Given the description of an element on the screen output the (x, y) to click on. 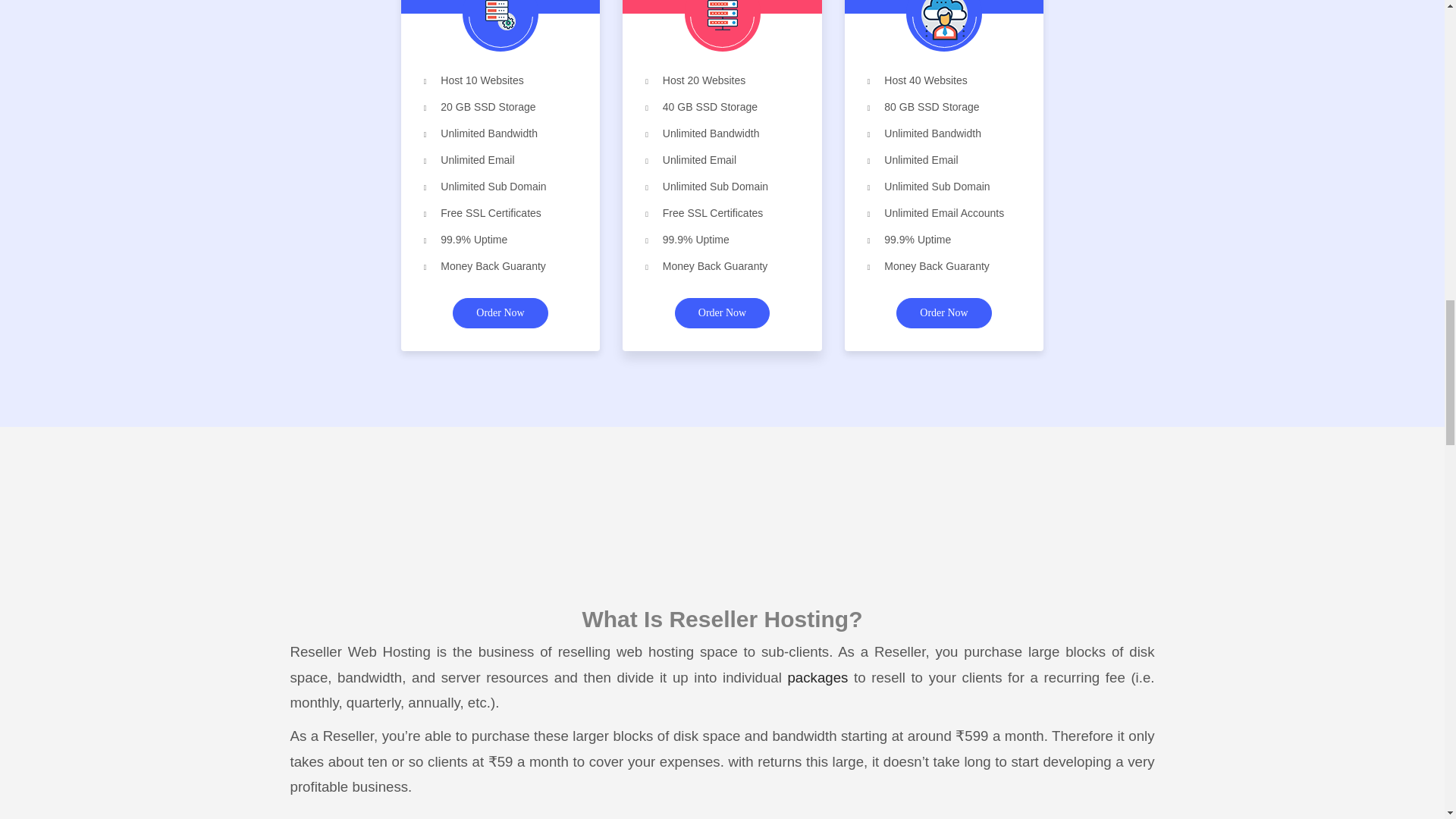
Reseller Hosting 8 (721, 15)
Order Now (499, 313)
Order Now (943, 313)
Order Now (722, 313)
Reseller Hosting 9 (943, 20)
packages (817, 677)
Reseller Hosting 7 (499, 15)
